Given the description of an element on the screen output the (x, y) to click on. 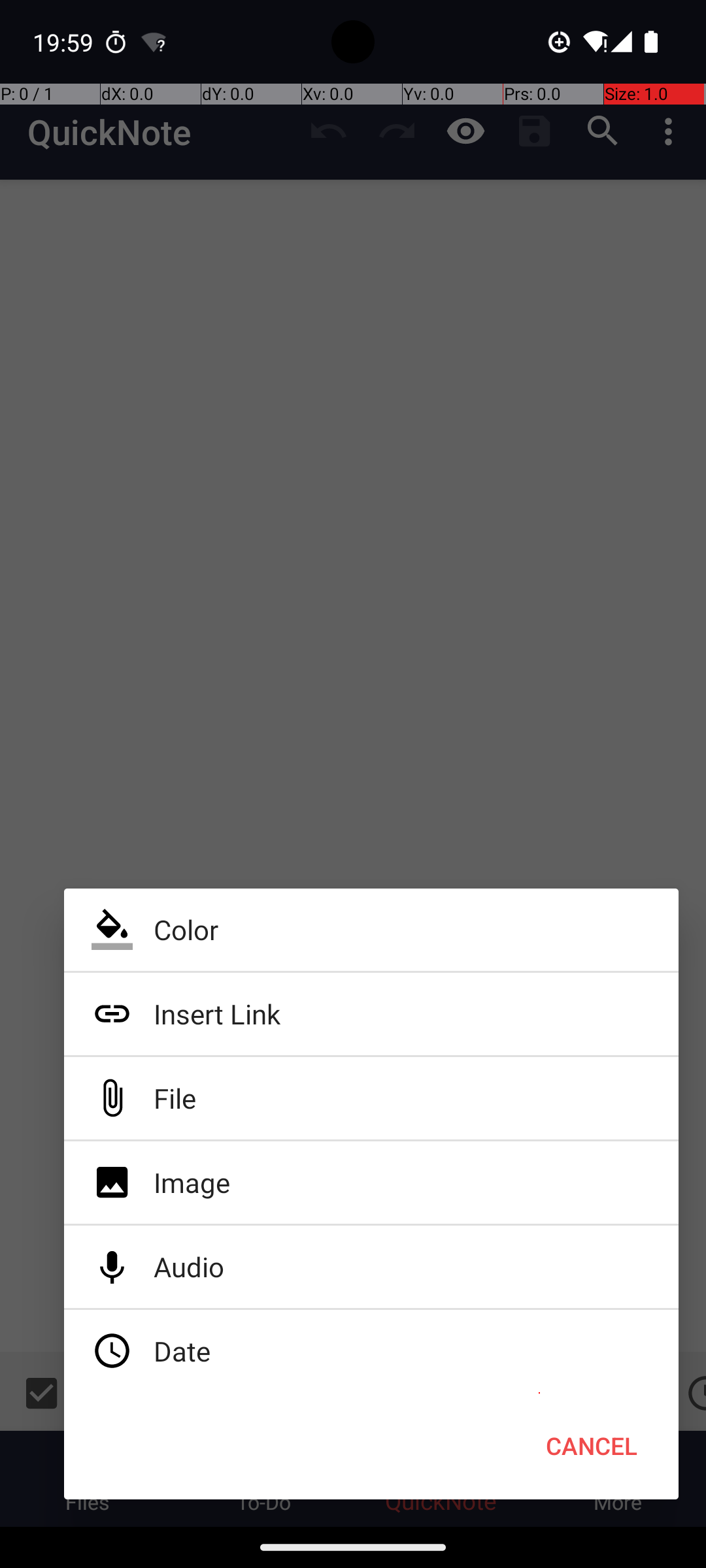
19:59 Element type: android.widget.TextView (64, 41)
